Given the description of an element on the screen output the (x, y) to click on. 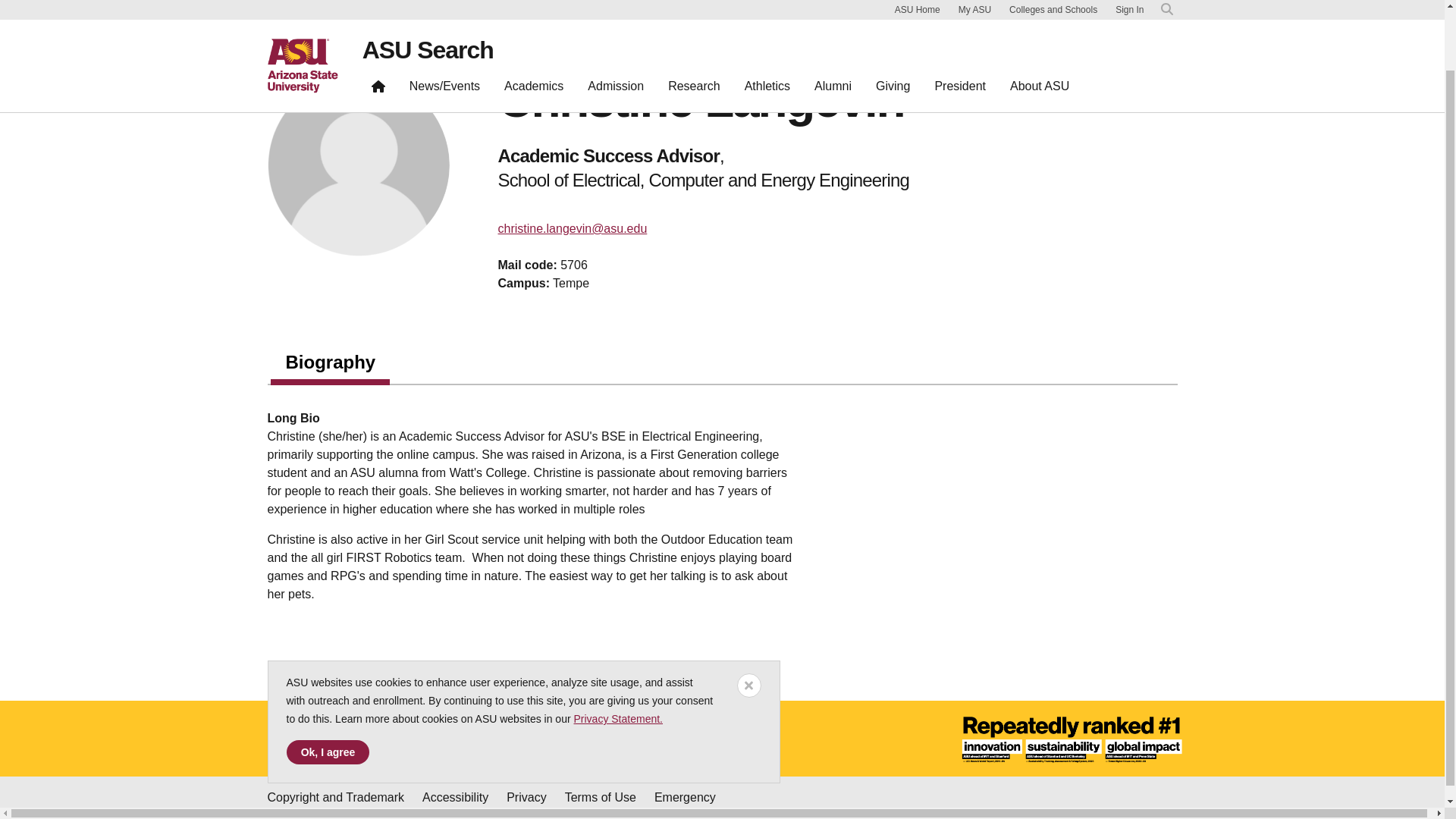
ASU home page (301, 12)
Giving (892, 21)
Copyright and Trademark (335, 797)
Research (694, 21)
Admission (615, 21)
Alumni (832, 21)
Terms of Use (600, 797)
President (959, 21)
Contact ASU (556, 738)
Maps and Locations (325, 738)
ASU Search home page (378, 21)
Admission (615, 21)
Giving (892, 21)
Academics (533, 21)
Research (694, 21)
